Given the description of an element on the screen output the (x, y) to click on. 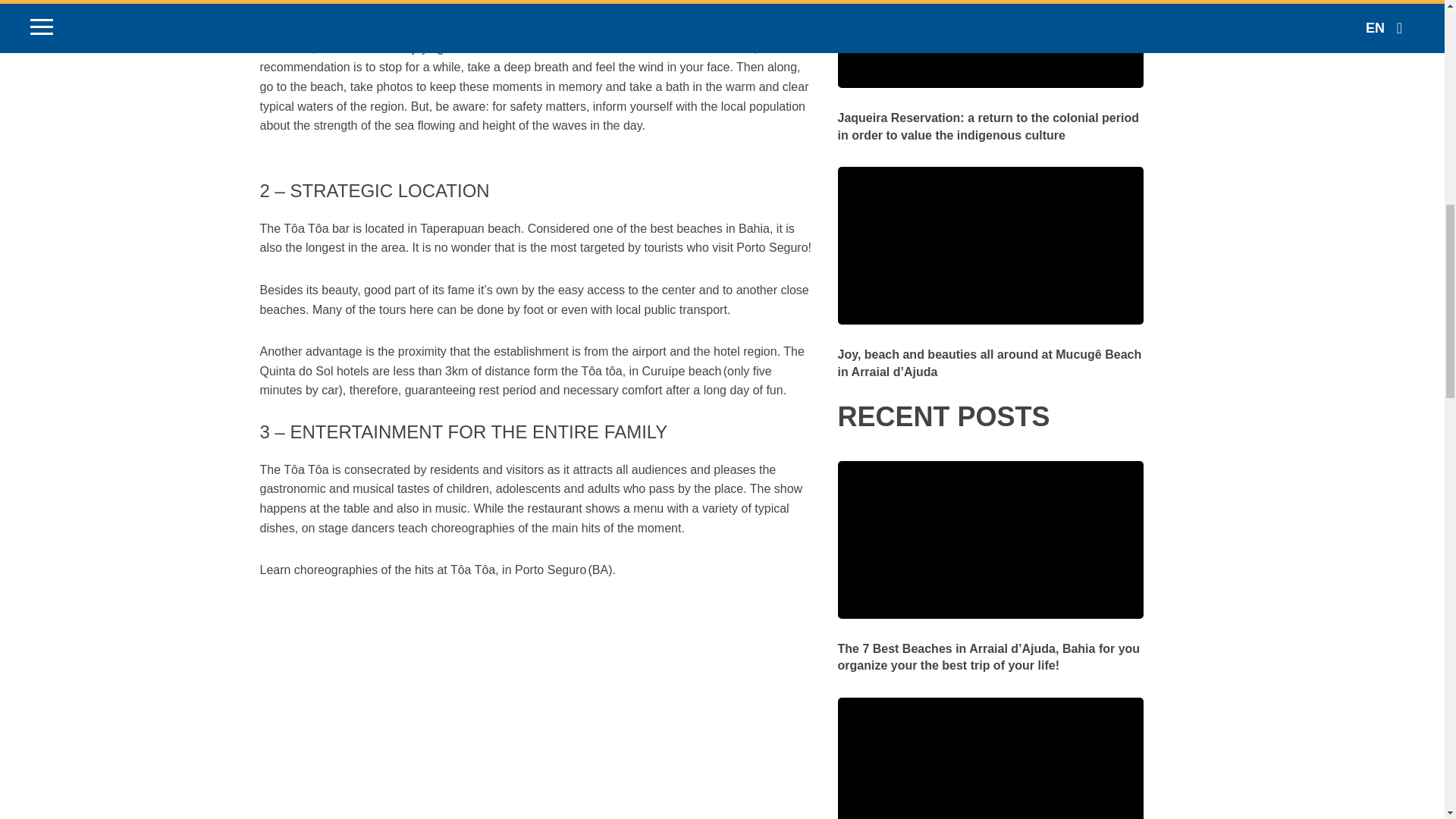
Saiba mais (989, 116)
Saiba mais (989, 646)
Saiba mais (989, 352)
